Given the description of an element on the screen output the (x, y) to click on. 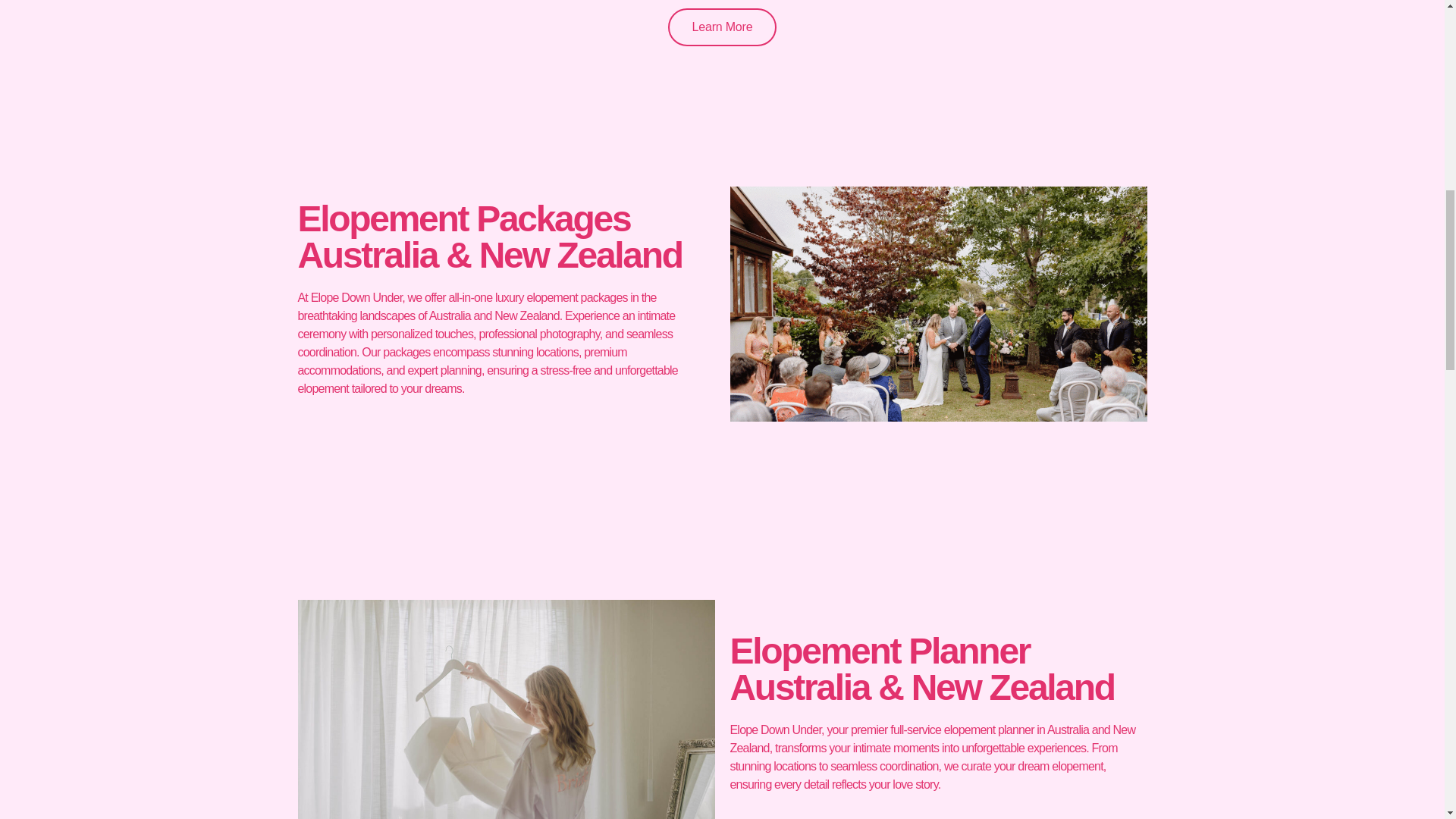
Learn More (722, 21)
